Given the description of an element on the screen output the (x, y) to click on. 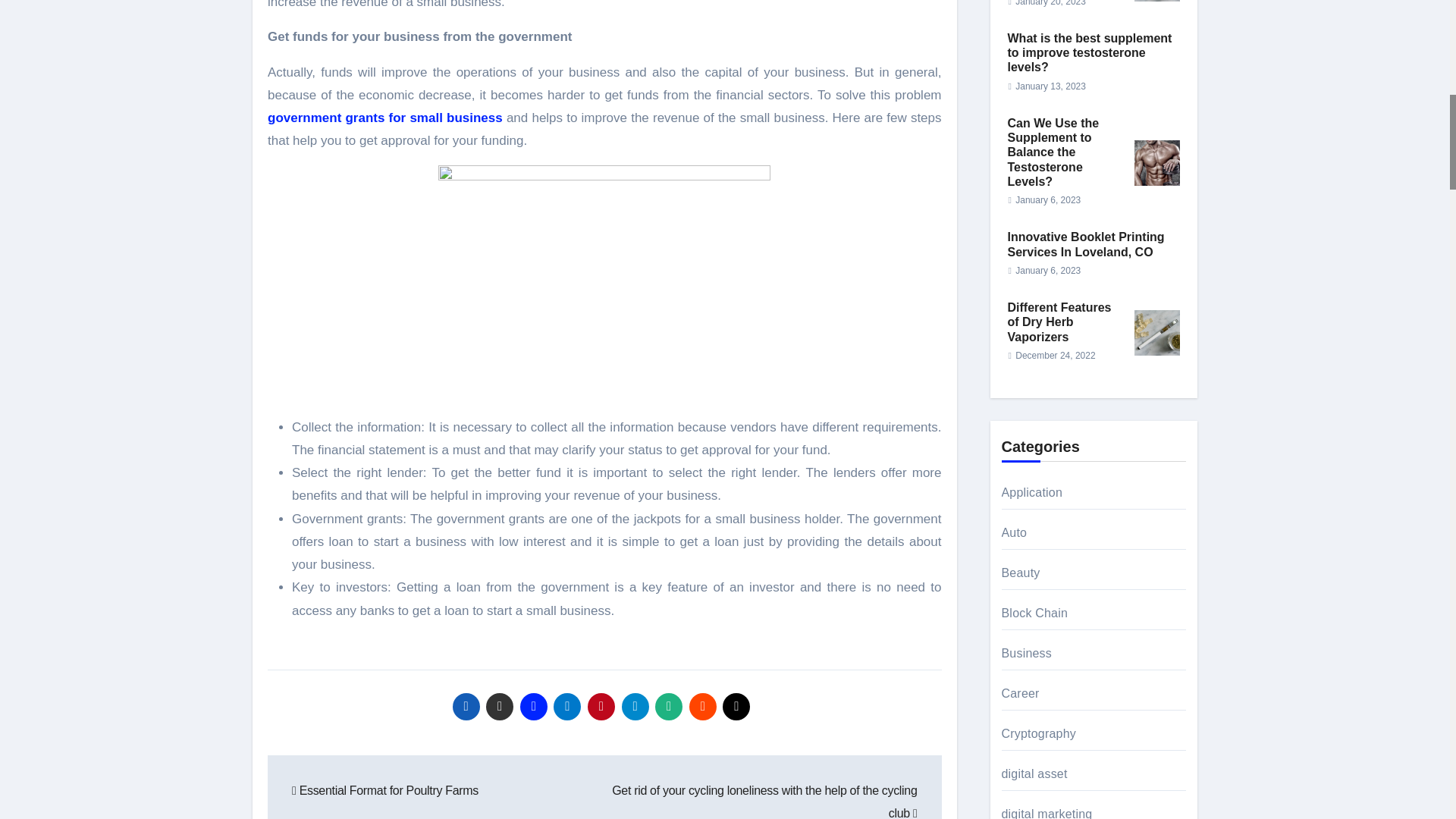
government grants for small business (384, 117)
Essential Format for Poultry Farms (385, 789)
